Given the description of an element on the screen output the (x, y) to click on. 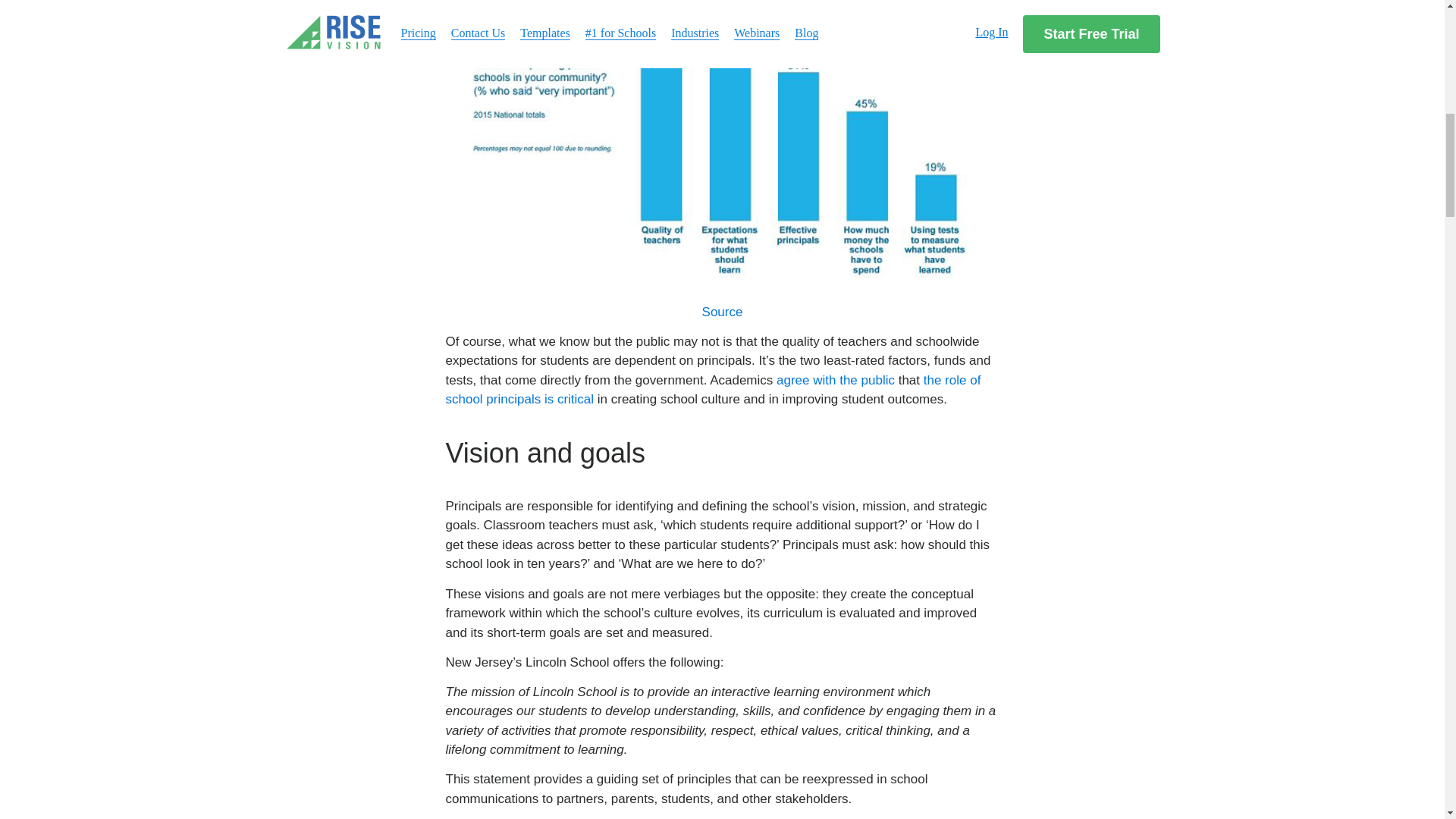
the role of school principals is critical (713, 390)
Source (721, 311)
agree with the public (835, 380)
